Given the description of an element on the screen output the (x, y) to click on. 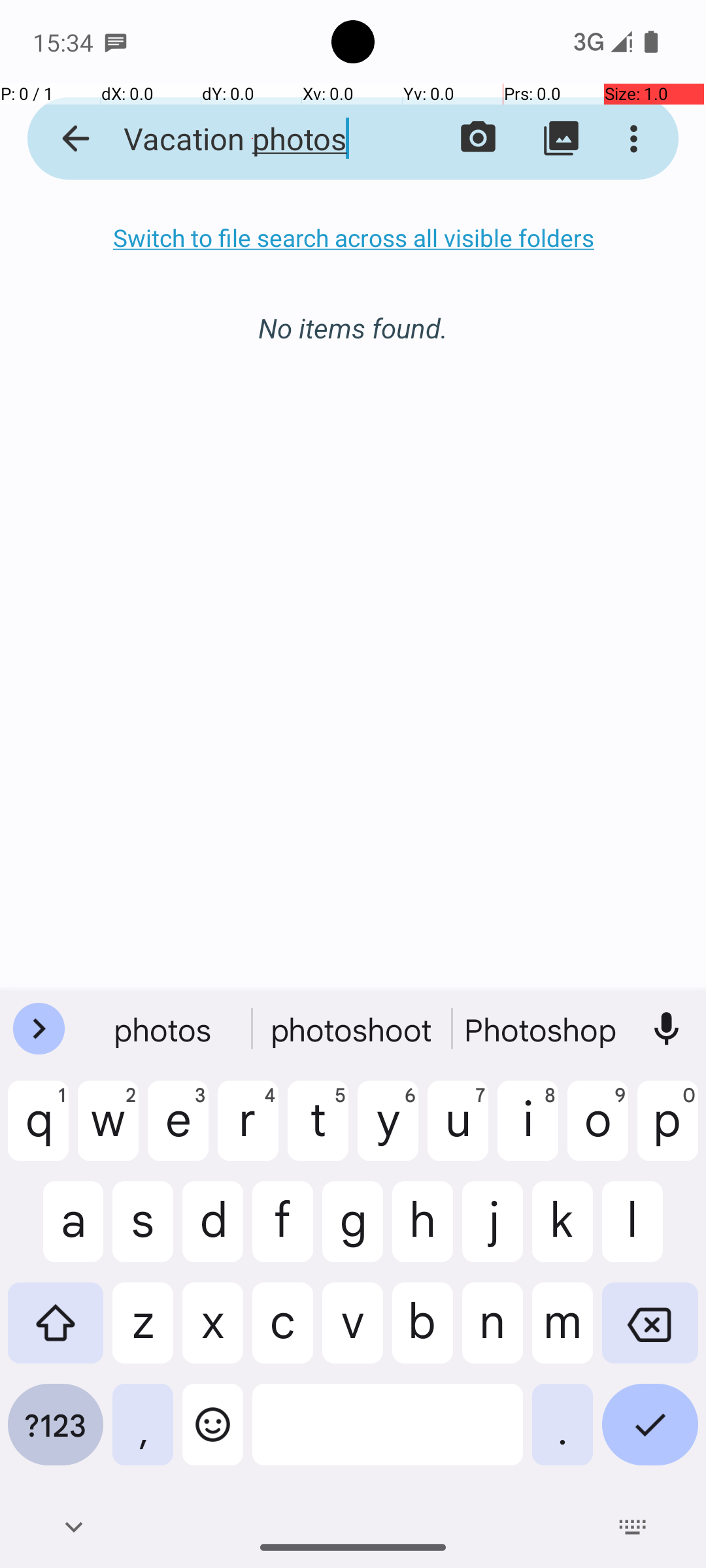
Switch to file search across all visible folders Element type: android.widget.TextView (353, 237)
No items found. Element type: android.widget.TextView (353, 313)
Vacation photos Element type: android.widget.EditText (252, 138)
Open camera Element type: android.widget.Button (477, 138)
Show all folders content Element type: android.widget.Button (560, 138)
photo Element type: android.widget.FrameLayout (163, 1028)
photos Element type: android.widget.FrameLayout (352, 1028)
photography Element type: android.widget.FrameLayout (541, 1028)
